Given the description of an element on the screen output the (x, y) to click on. 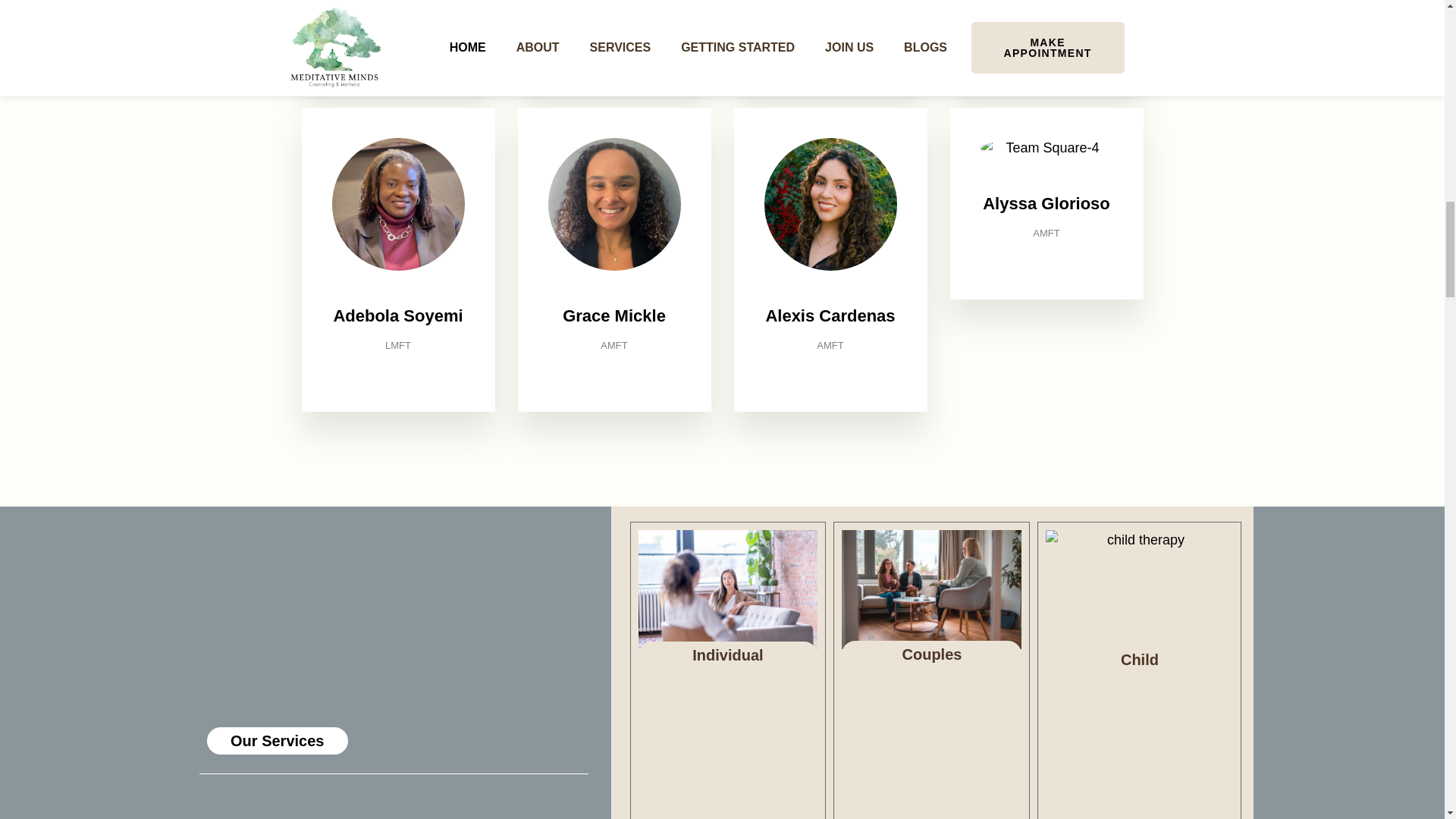
Team Square-3 (830, 204)
Team Square-8 (397, 204)
Team Square-4 (1045, 148)
Team Square-1 (613, 204)
